Given the description of an element on the screen output the (x, y) to click on. 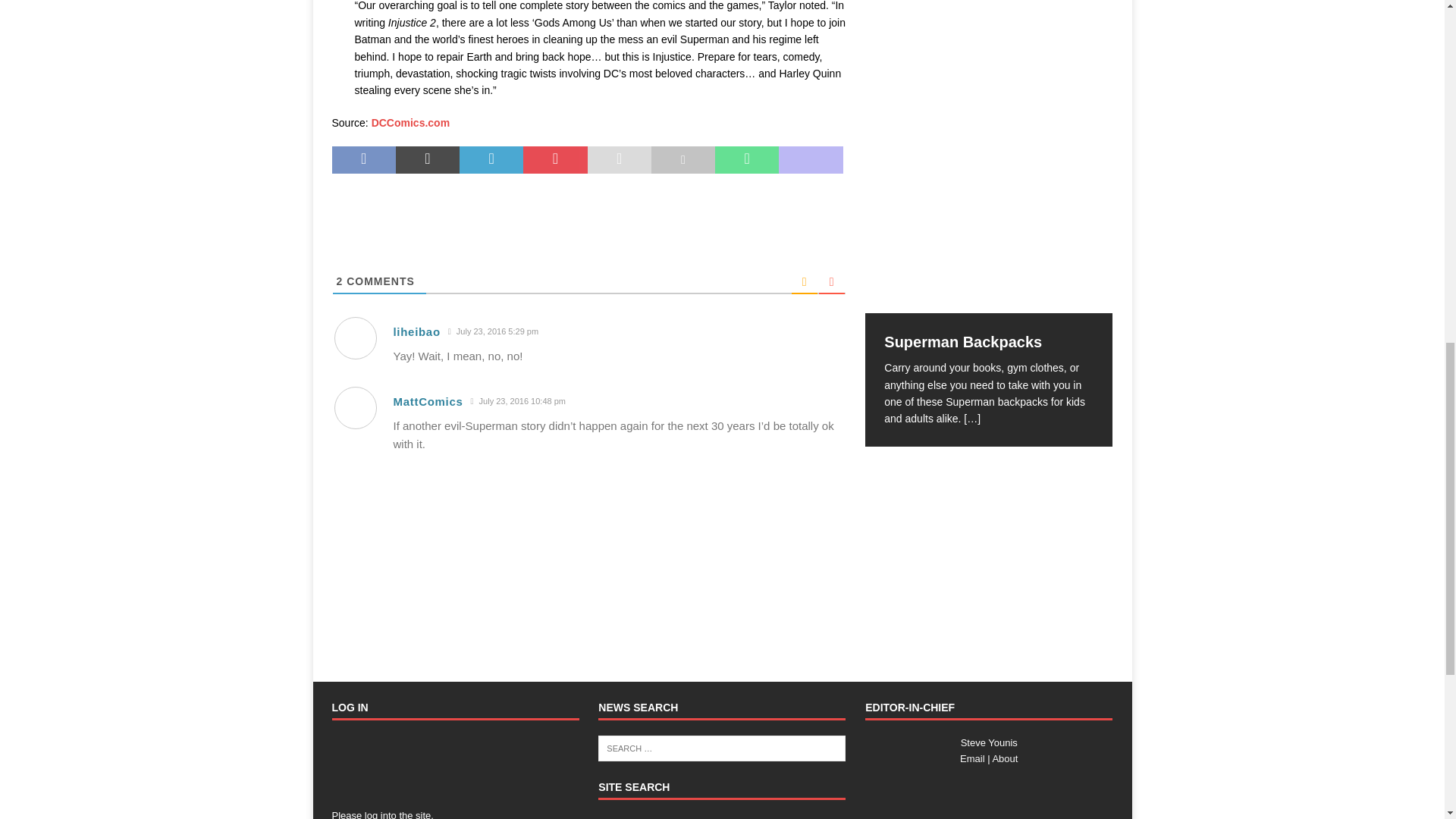
Share on Facebook (363, 159)
Send this article to a friend (619, 159)
Share on Whatsapp (746, 159)
Print this article (682, 159)
July 23, 2016 10:48 pm (518, 400)
Pin This Post (554, 159)
Share On Mastodon (810, 159)
Share on LinkedIn (491, 159)
Superman Backpacks (988, 243)
July 23, 2016 5:29 pm (492, 331)
Tweet This Post (428, 159)
